Given the description of an element on the screen output the (x, y) to click on. 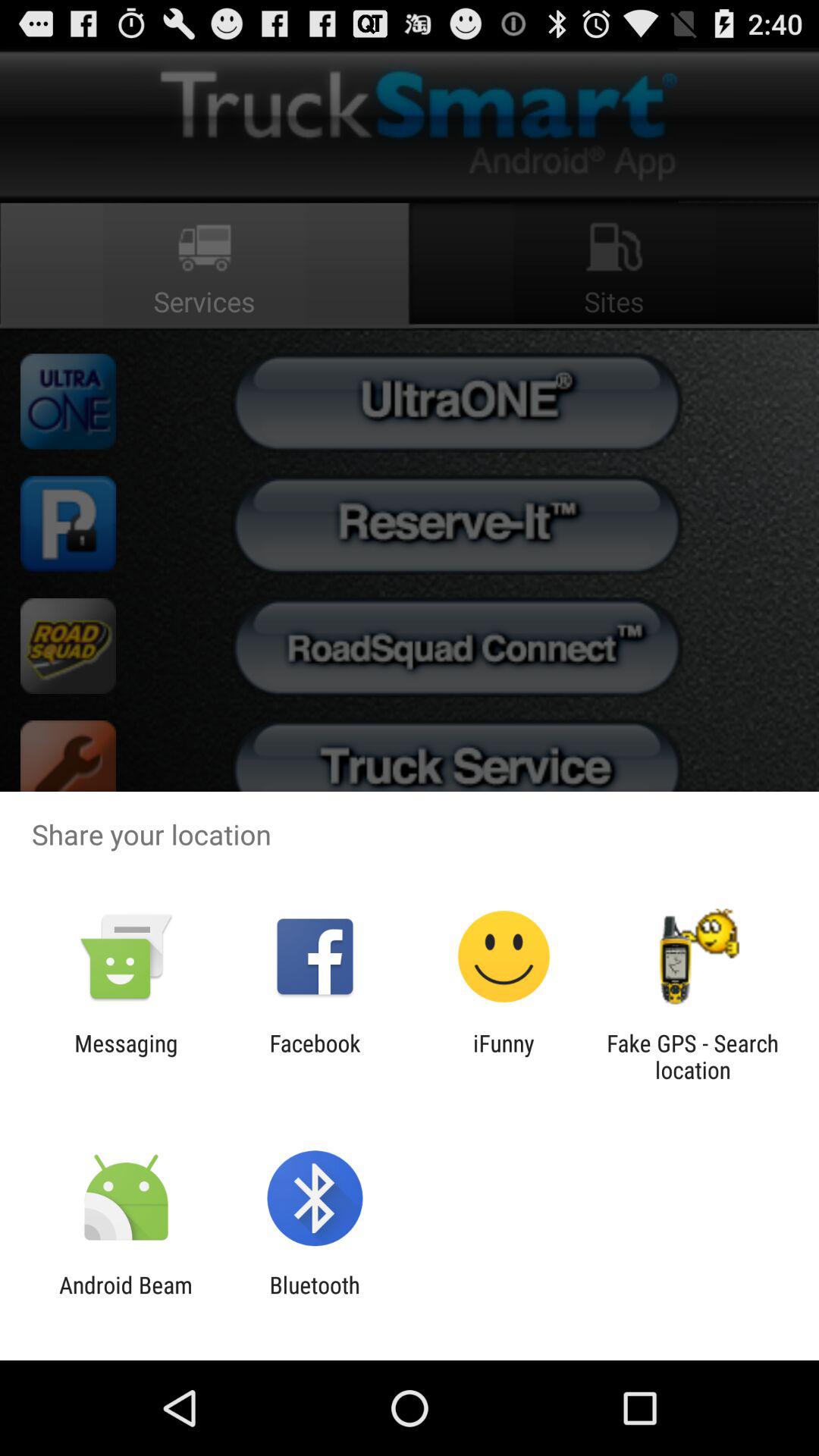
press item to the left of the fake gps search icon (503, 1056)
